Given the description of an element on the screen output the (x, y) to click on. 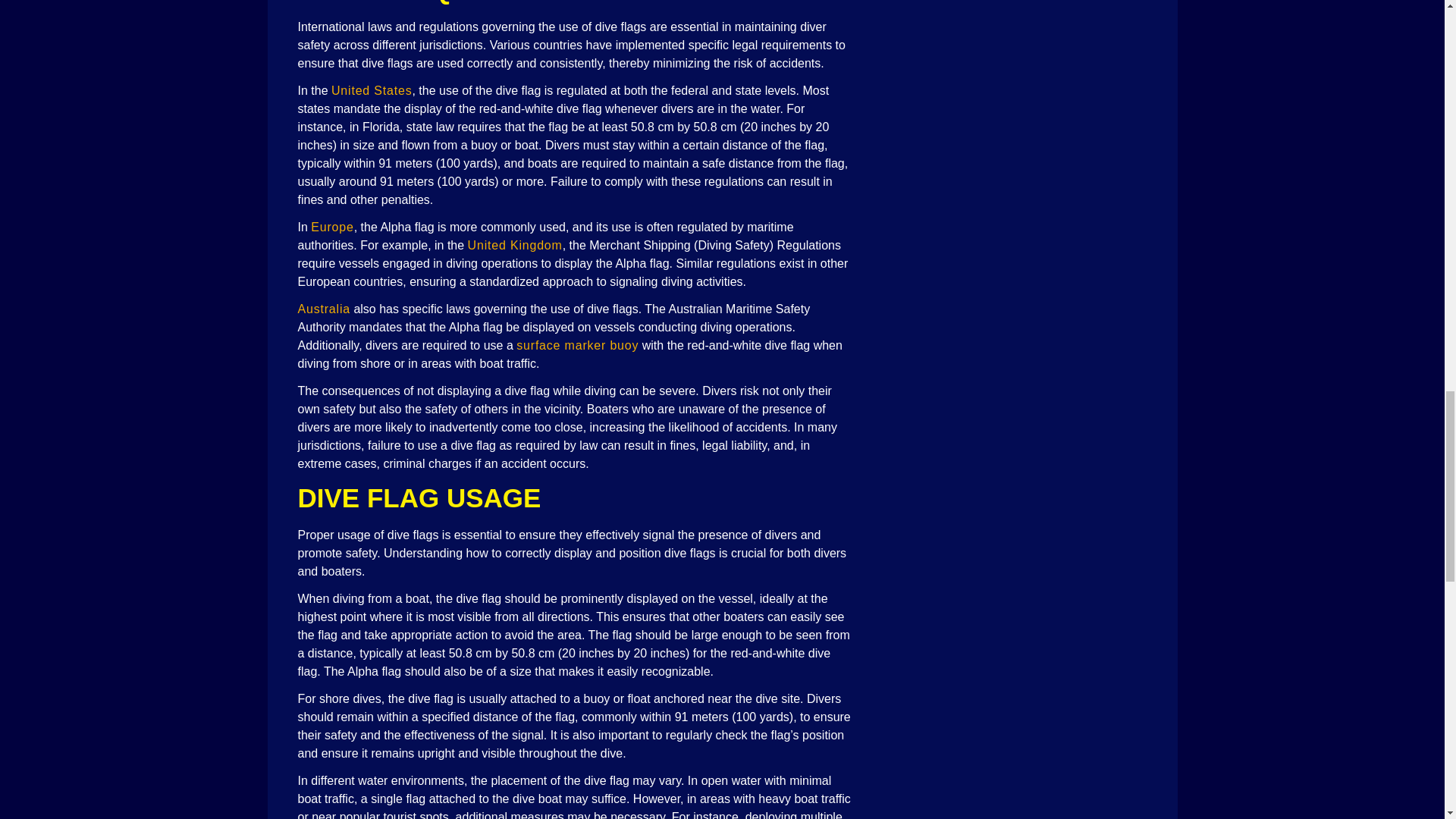
Australia (323, 308)
Europe (332, 226)
United Kingdom (514, 245)
surface marker buoy (577, 345)
United States (371, 90)
